Given the description of an element on the screen output the (x, y) to click on. 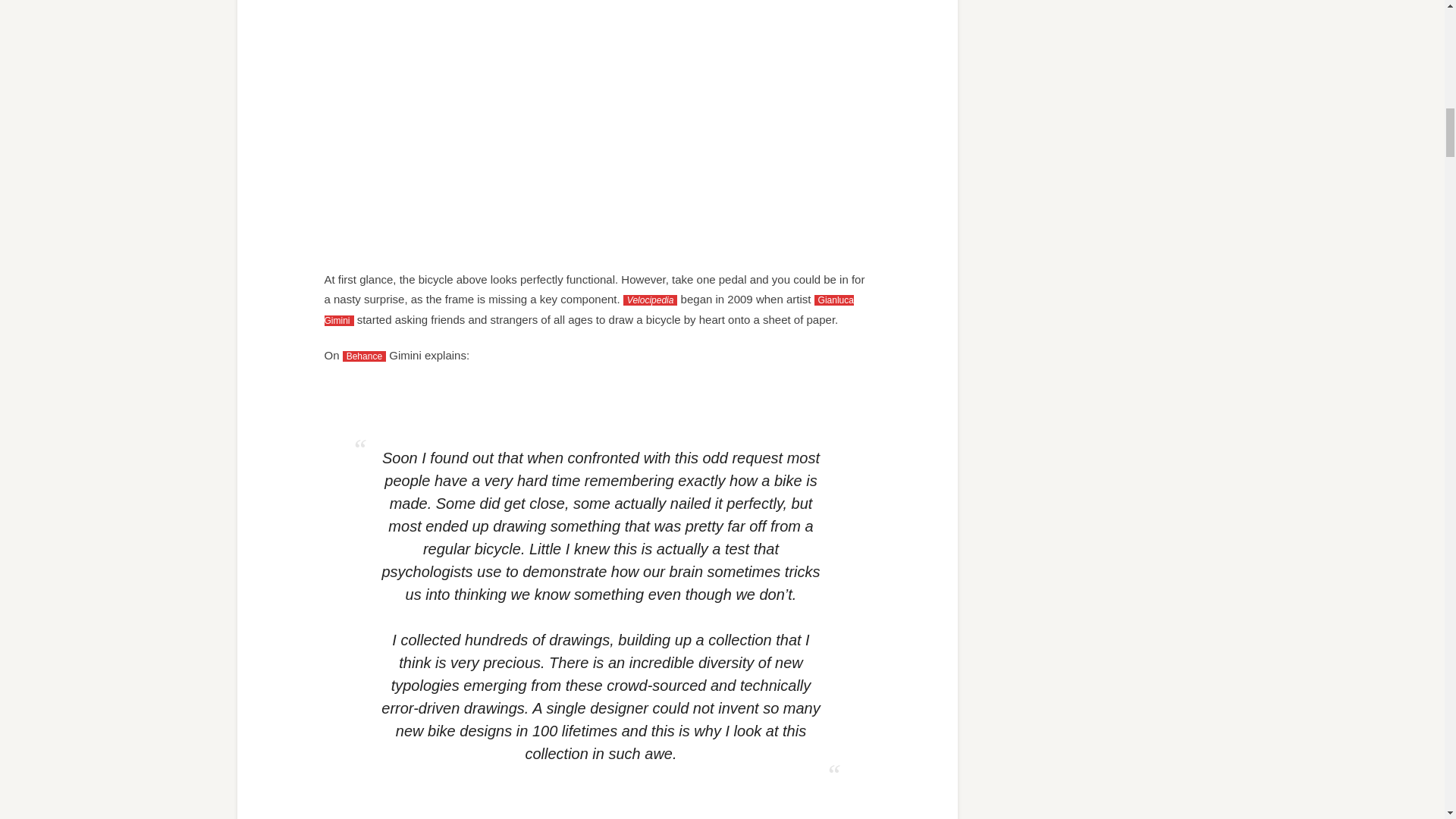
Gianluca Gimini (588, 309)
Behance (363, 356)
Velocipedia (650, 299)
